Given the description of an element on the screen output the (x, y) to click on. 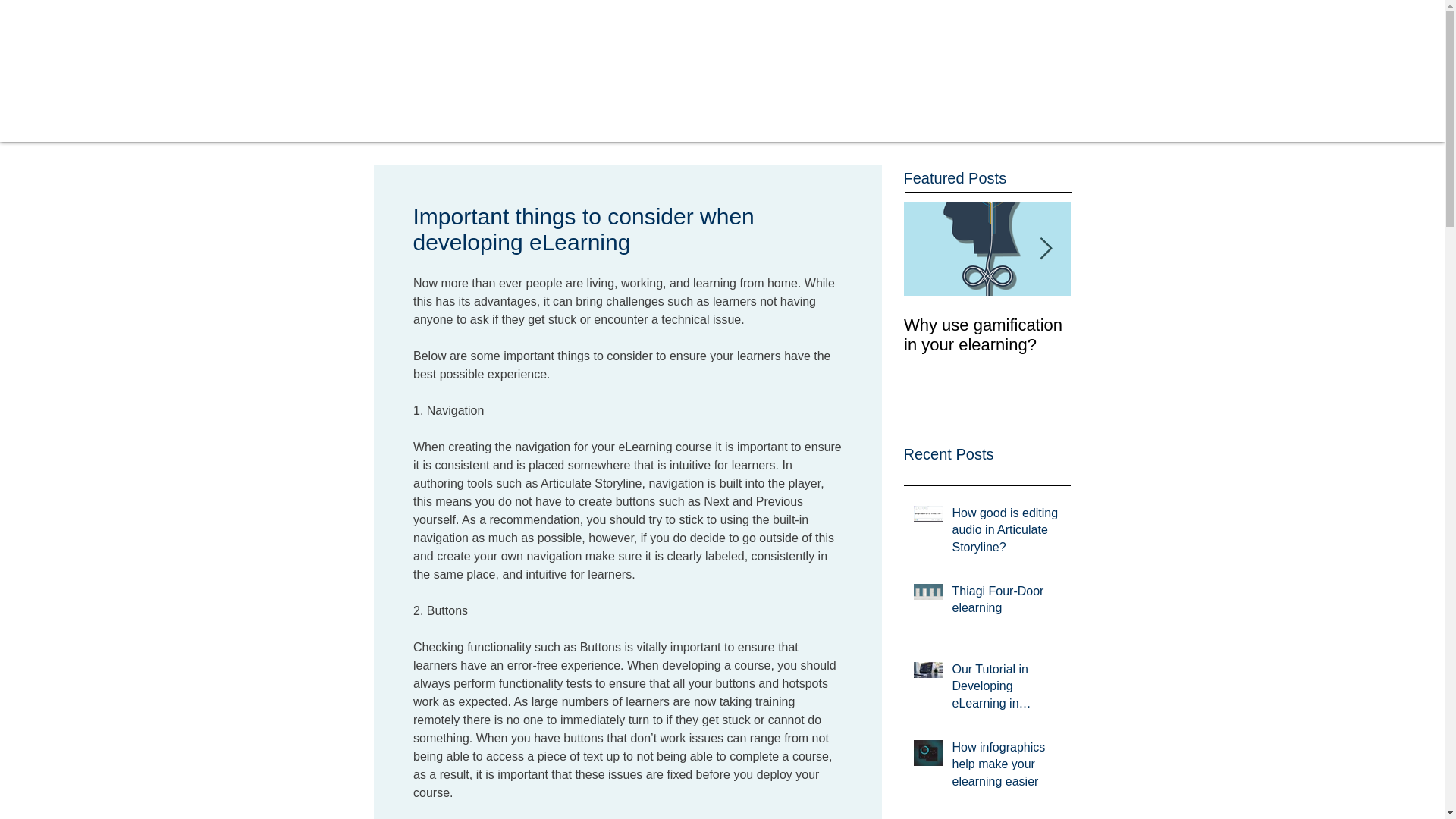
Thiagi Four-Door elearning (1006, 603)
Why use gamification in your elearning? (987, 334)
How infographics help make your elearning easier (1006, 767)
eLearning Modules on Social Media Awareness (1153, 344)
Our Tutorial in Developing eLearning in Captivate (1006, 689)
How good is editing audio in Articulate Storyline? (1006, 533)
